Given the description of an element on the screen output the (x, y) to click on. 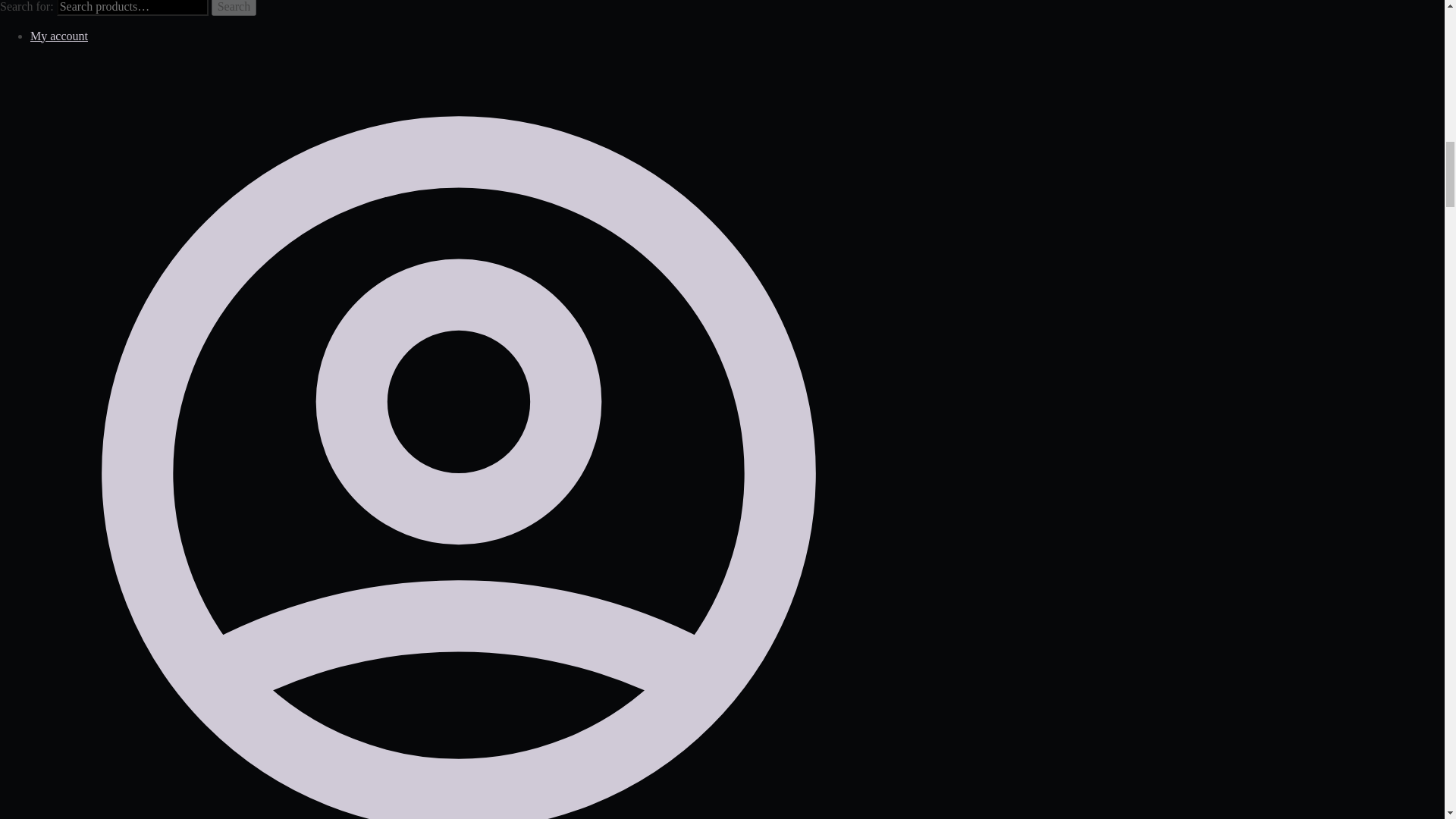
Search (234, 7)
